Given the description of an element on the screen output the (x, y) to click on. 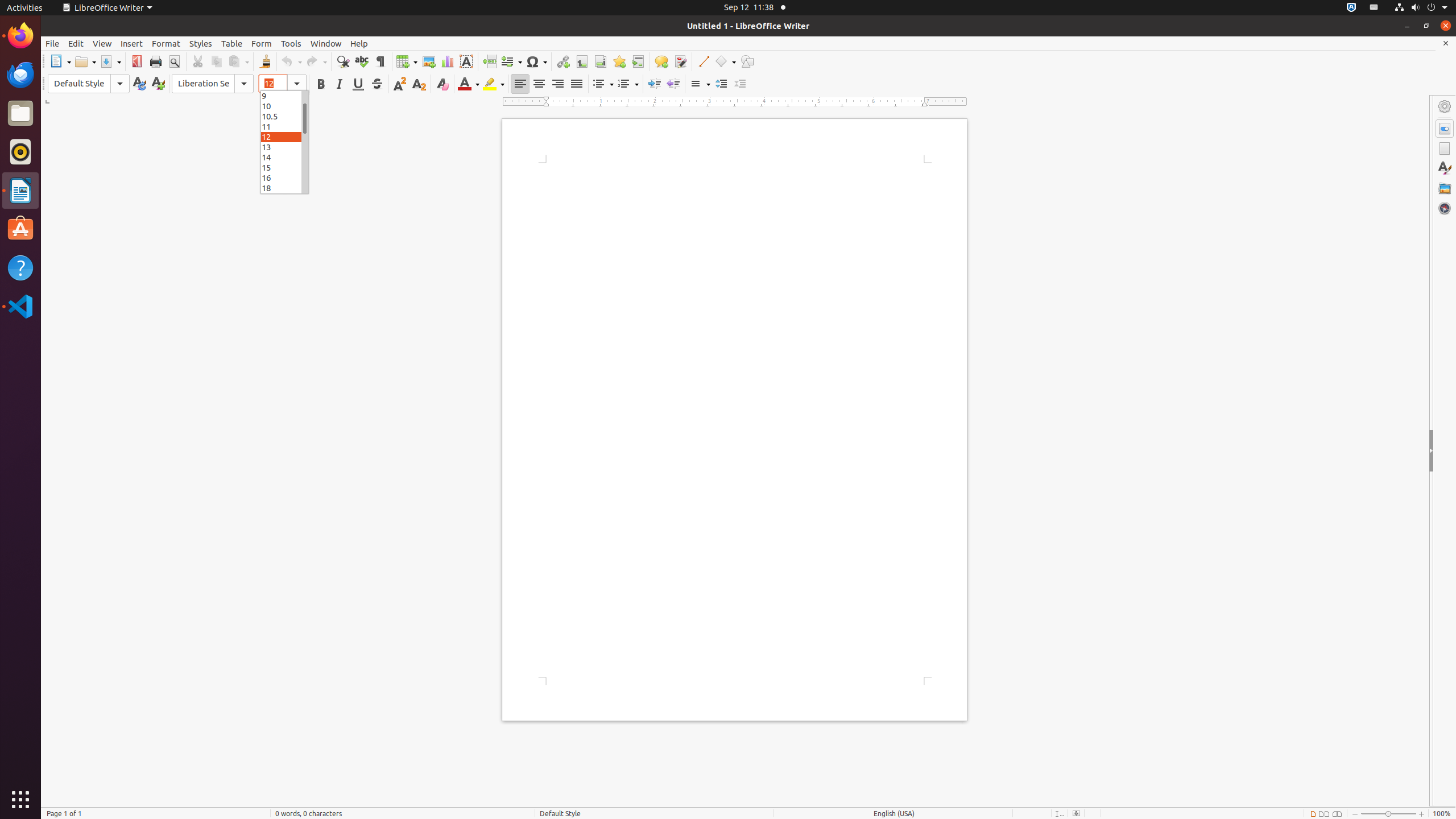
Ubuntu Software Element type: push-button (20, 229)
Decrease Element type: push-button (739, 83)
:1.72/StatusNotifierItem Element type: menu (1350, 7)
Clone Element type: push-button (264, 61)
Justified Element type: toggle-button (576, 83)
